Given the description of an element on the screen output the (x, y) to click on. 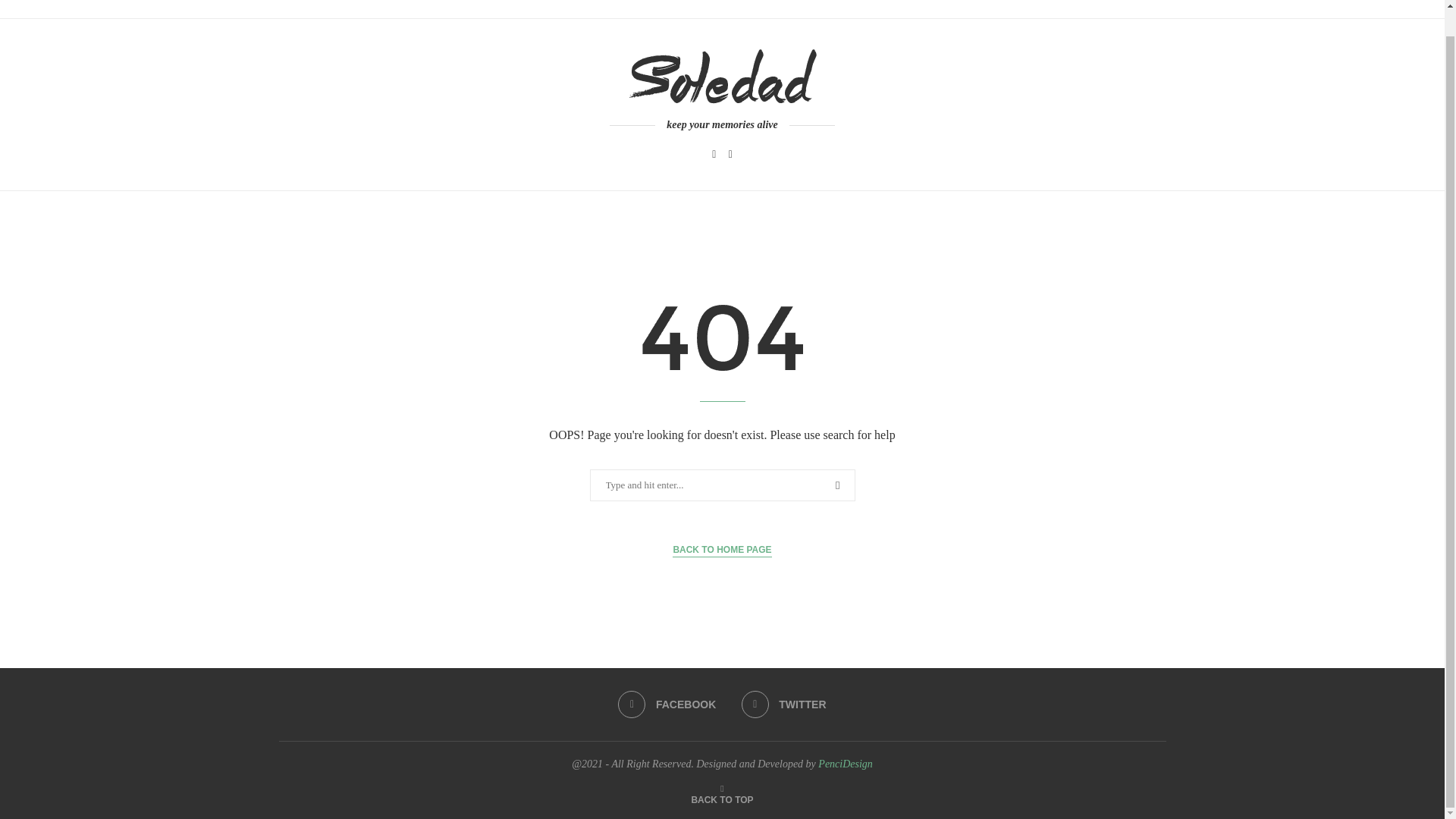
HOME (292, 9)
BACK TO TOP (721, 799)
TWITTER (784, 704)
BACK TO HOME PAGE (721, 549)
PenciDesign (845, 763)
FACEBOOK (666, 704)
Search (35, 2)
